Given the description of an element on the screen output the (x, y) to click on. 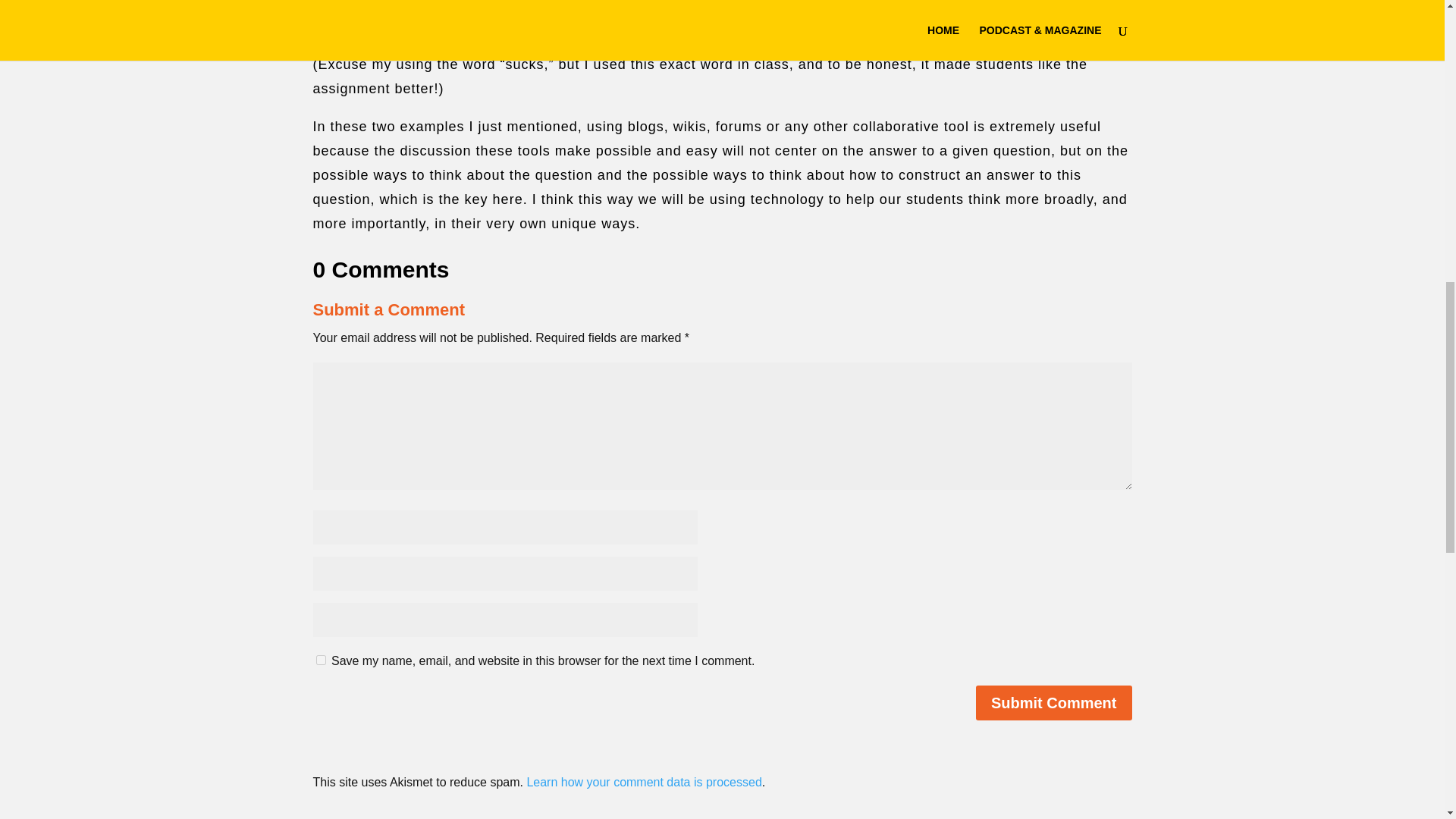
Submit Comment (1053, 702)
Learn how your comment data is processed (643, 781)
yes (319, 660)
